Given the description of an element on the screen output the (x, y) to click on. 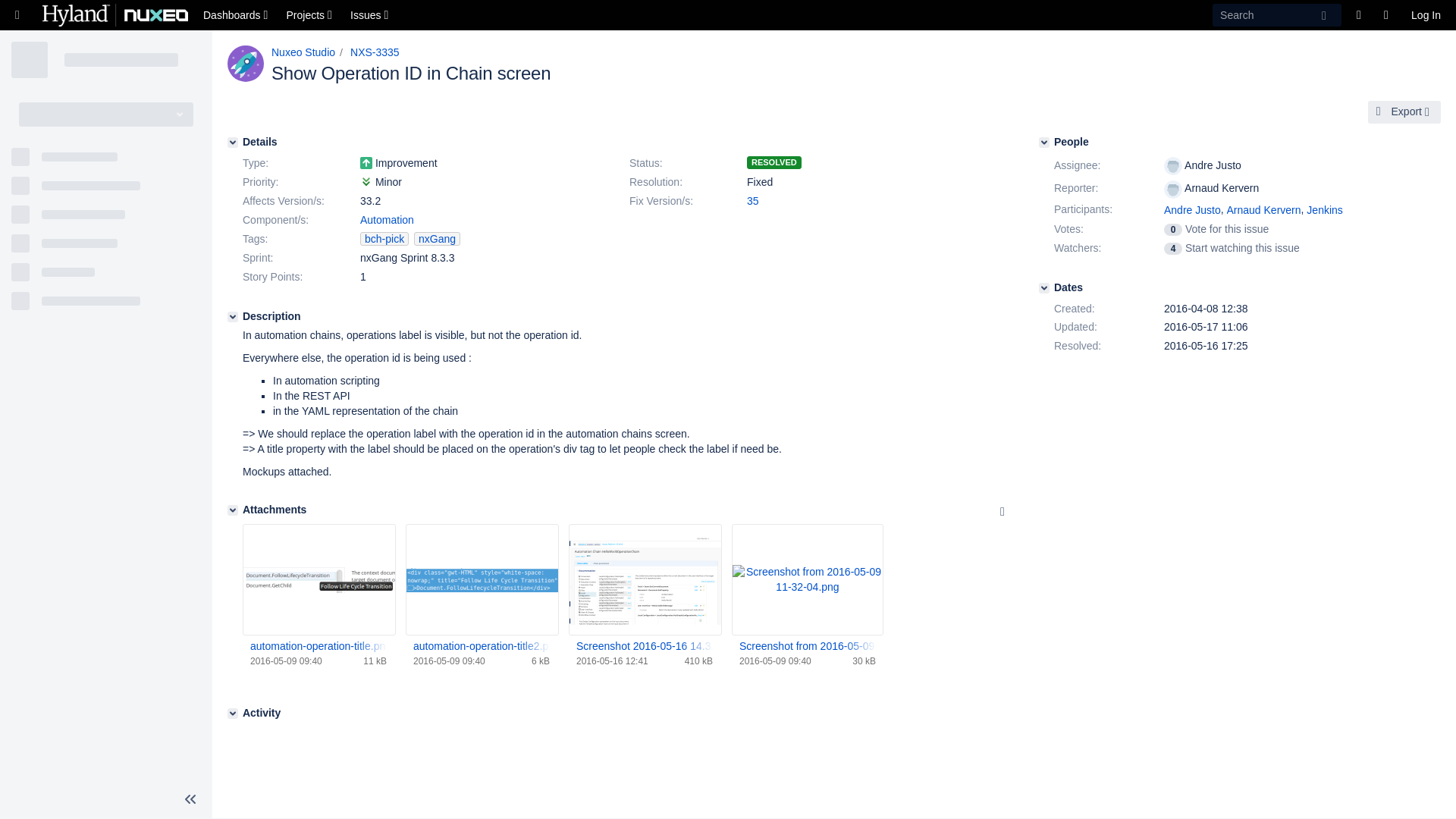
Issues (370, 15)
Export (1404, 111)
35  (752, 200)
automation-operation-title.png (318, 647)
33.2  (369, 200)
Dashboards (237, 15)
nxGang (436, 238)
Nuxeo Studio (302, 51)
Projects (311, 15)
NXS-3335 (374, 51)
35 (752, 200)
Help (1389, 15)
nxGang (436, 238)
bch-pick (384, 238)
